Given the description of an element on the screen output the (x, y) to click on. 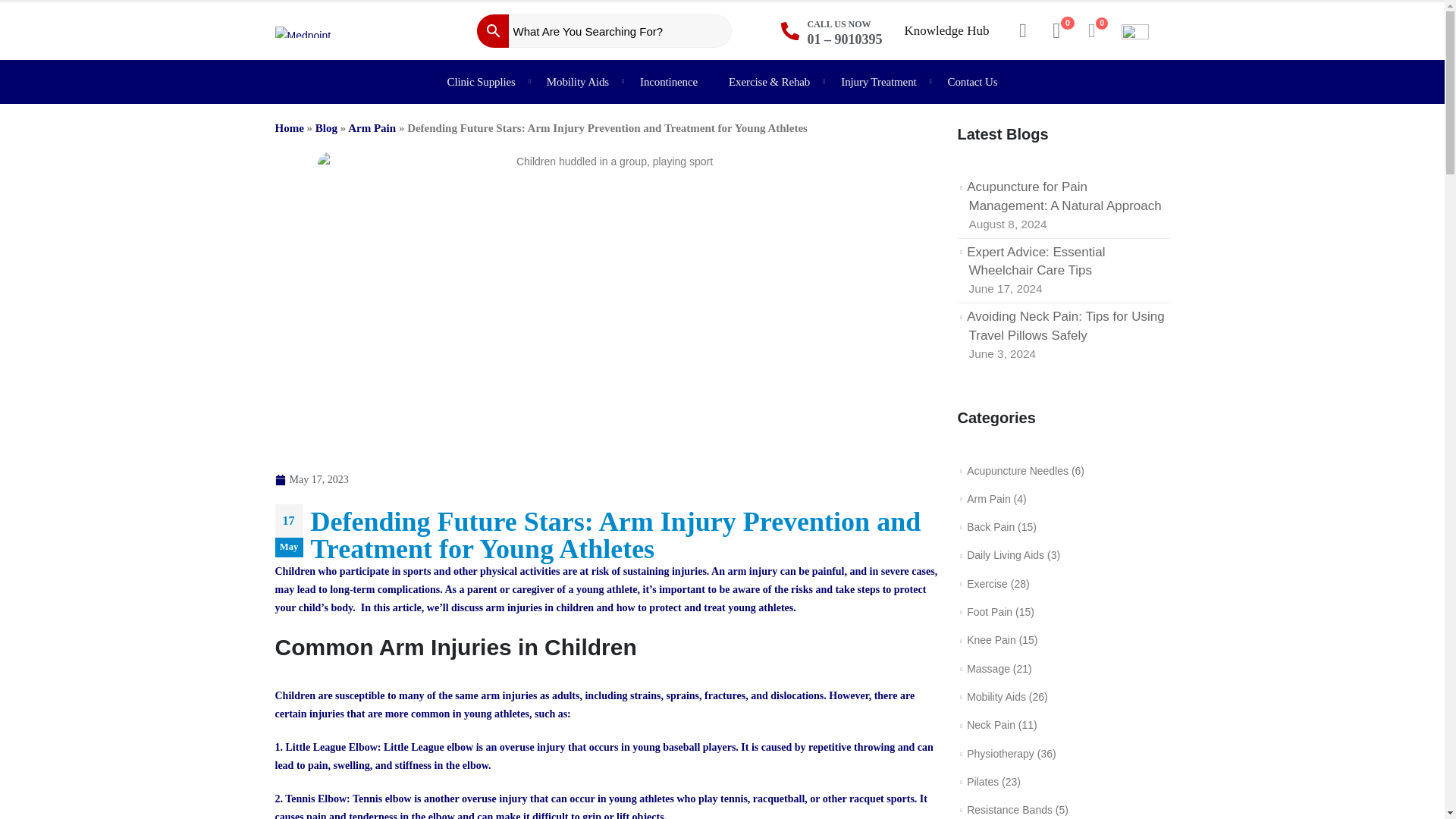
0 (1094, 30)
Knowledge Hub (947, 30)
0 (1056, 30)
Wishlist (1056, 30)
My Account (1021, 30)
